Given the description of an element on the screen output the (x, y) to click on. 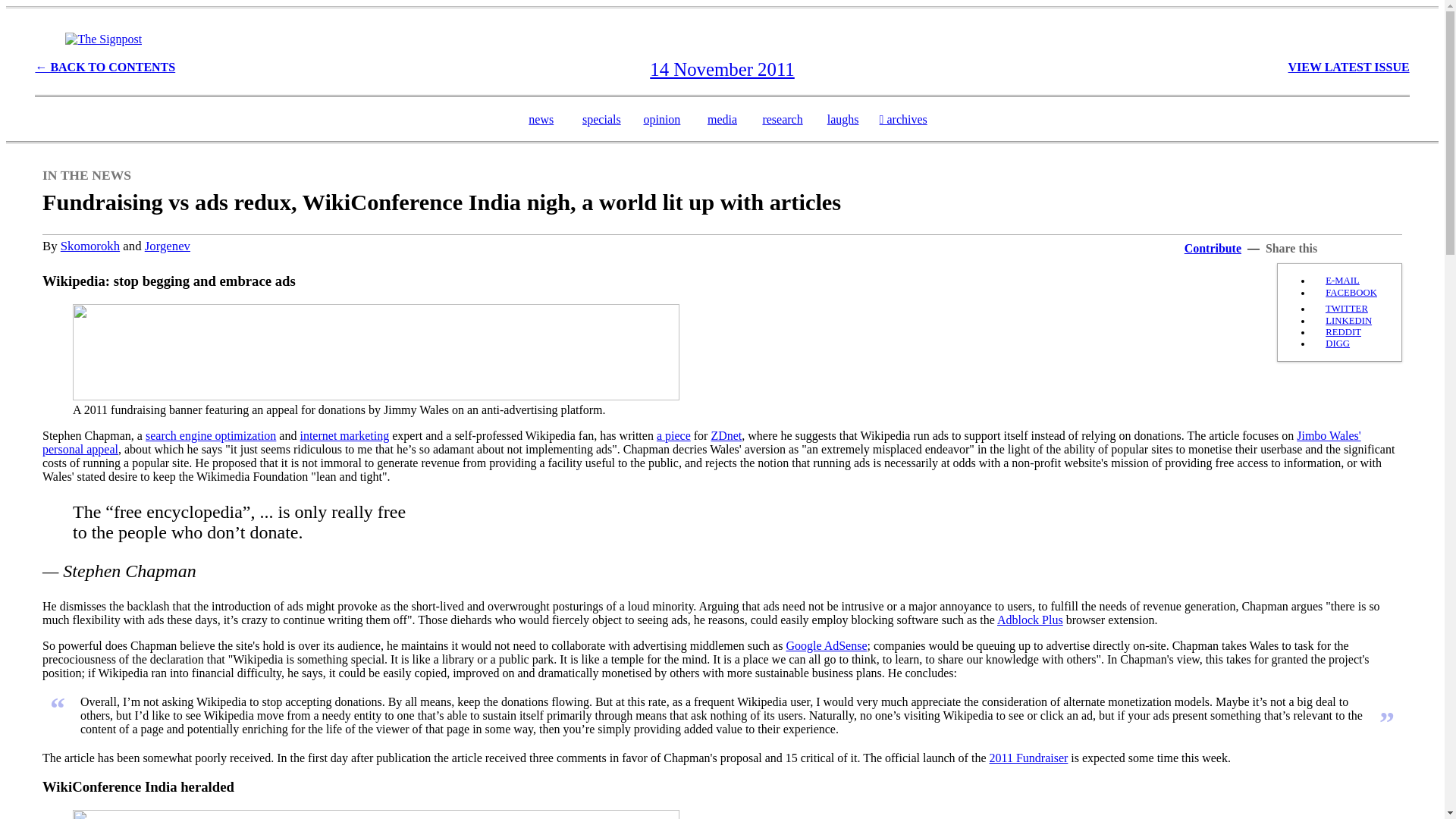
Internet marketing (343, 435)
E-MAIL (1341, 280)
REDDIT (1342, 331)
opinion (661, 119)
ZDnet (725, 435)
2011 Fundraiser (1027, 757)
Adblock Plus (1029, 619)
a piece (673, 435)
DIGG (1336, 343)
ZDnet (725, 435)
